Given the description of an element on the screen output the (x, y) to click on. 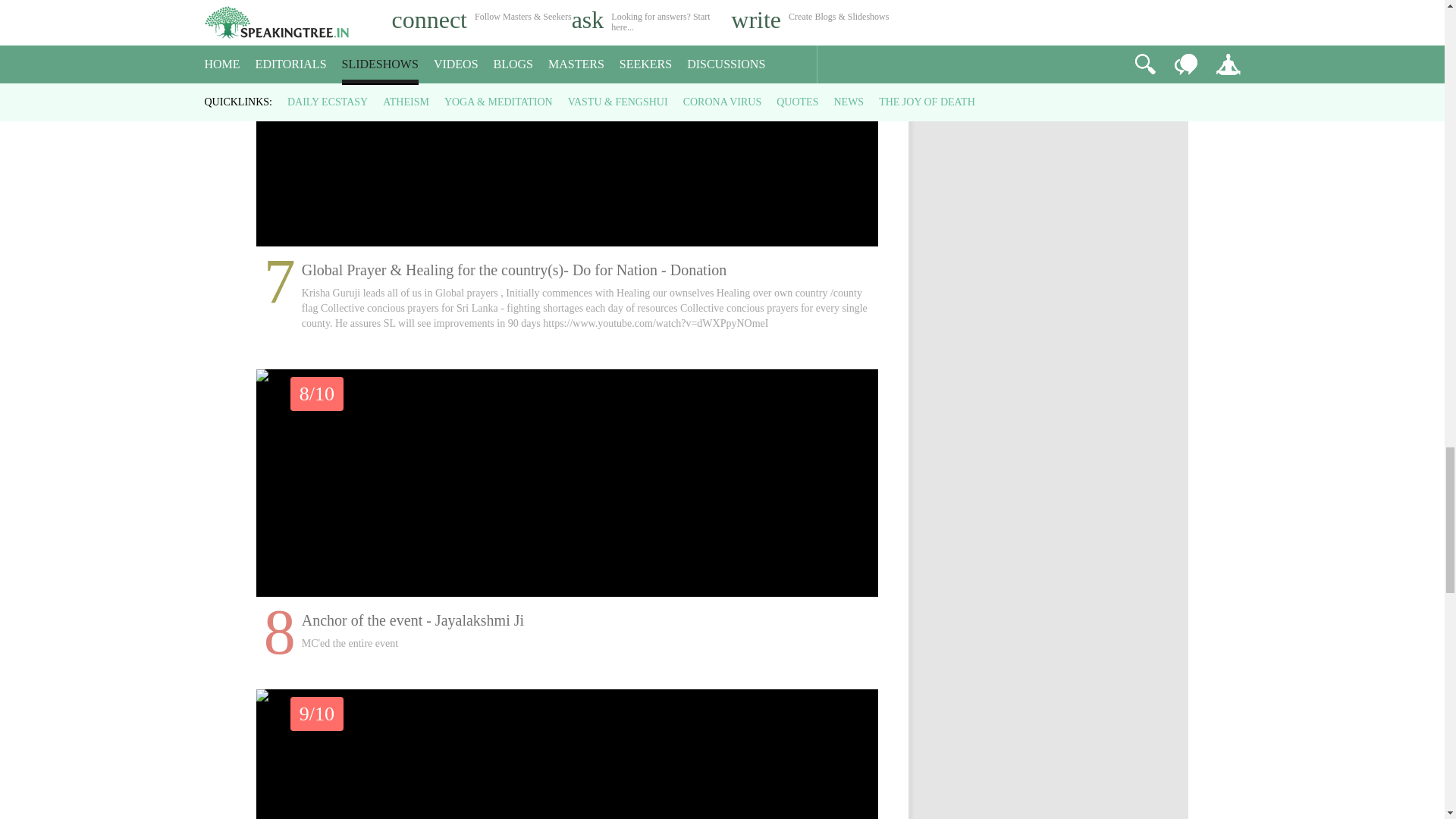
Pratibha ji , NY,USA (567, 754)
